Given the description of an element on the screen output the (x, y) to click on. 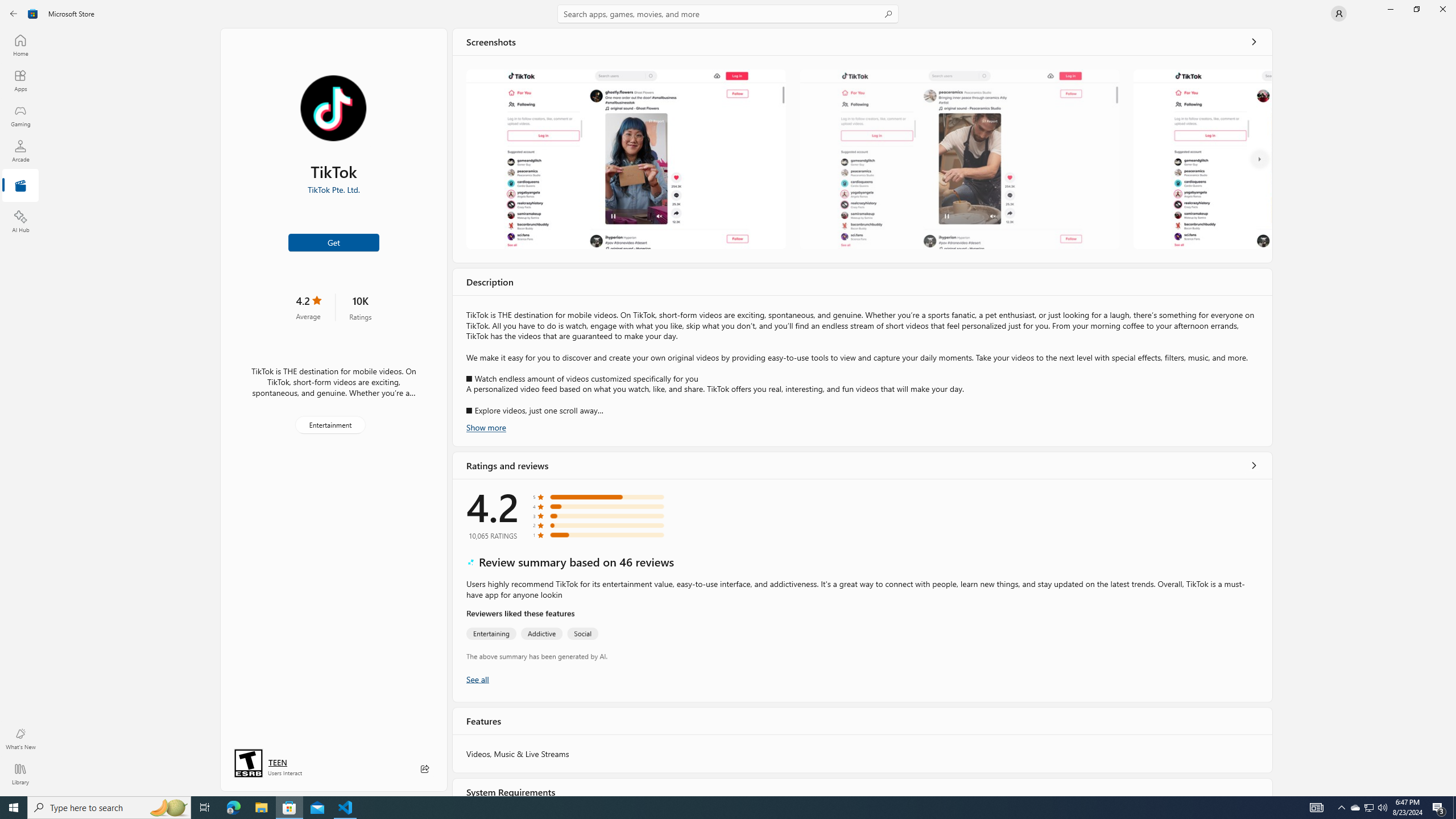
Entertainment (329, 425)
Share (424, 769)
AI Hub (20, 221)
Screenshot 1 (625, 158)
User profile (1338, 13)
Restore Microsoft Store (1416, 9)
Class: Image (32, 13)
Home (20, 45)
4.2 stars. Click to skip to ratings and reviews (307, 306)
Entertainment (20, 185)
See all (1253, 41)
Library (20, 773)
Get (334, 241)
Close Microsoft Store (1442, 9)
TikTok Pte. Ltd. (333, 189)
